Given the description of an element on the screen output the (x, y) to click on. 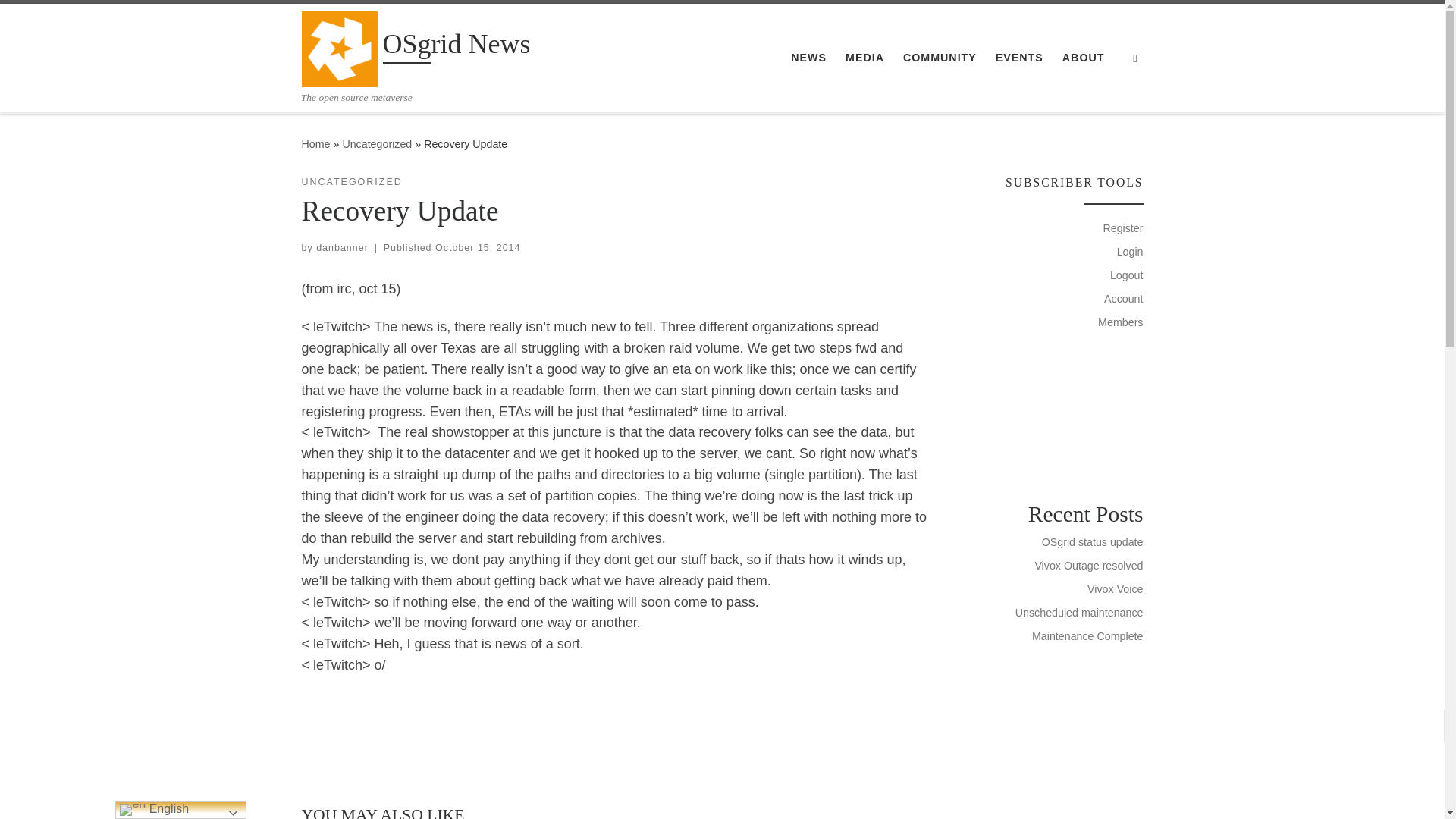
UNCATEGORIZED (352, 182)
MEDIA (864, 57)
NEWS (808, 57)
Uncategorized (377, 143)
Skip to content (60, 20)
danbanner (341, 247)
20:47 (477, 247)
View all posts in Uncategorized (352, 182)
Uncategorized (377, 143)
COMMUNITY (939, 57)
